Given the description of an element on the screen output the (x, y) to click on. 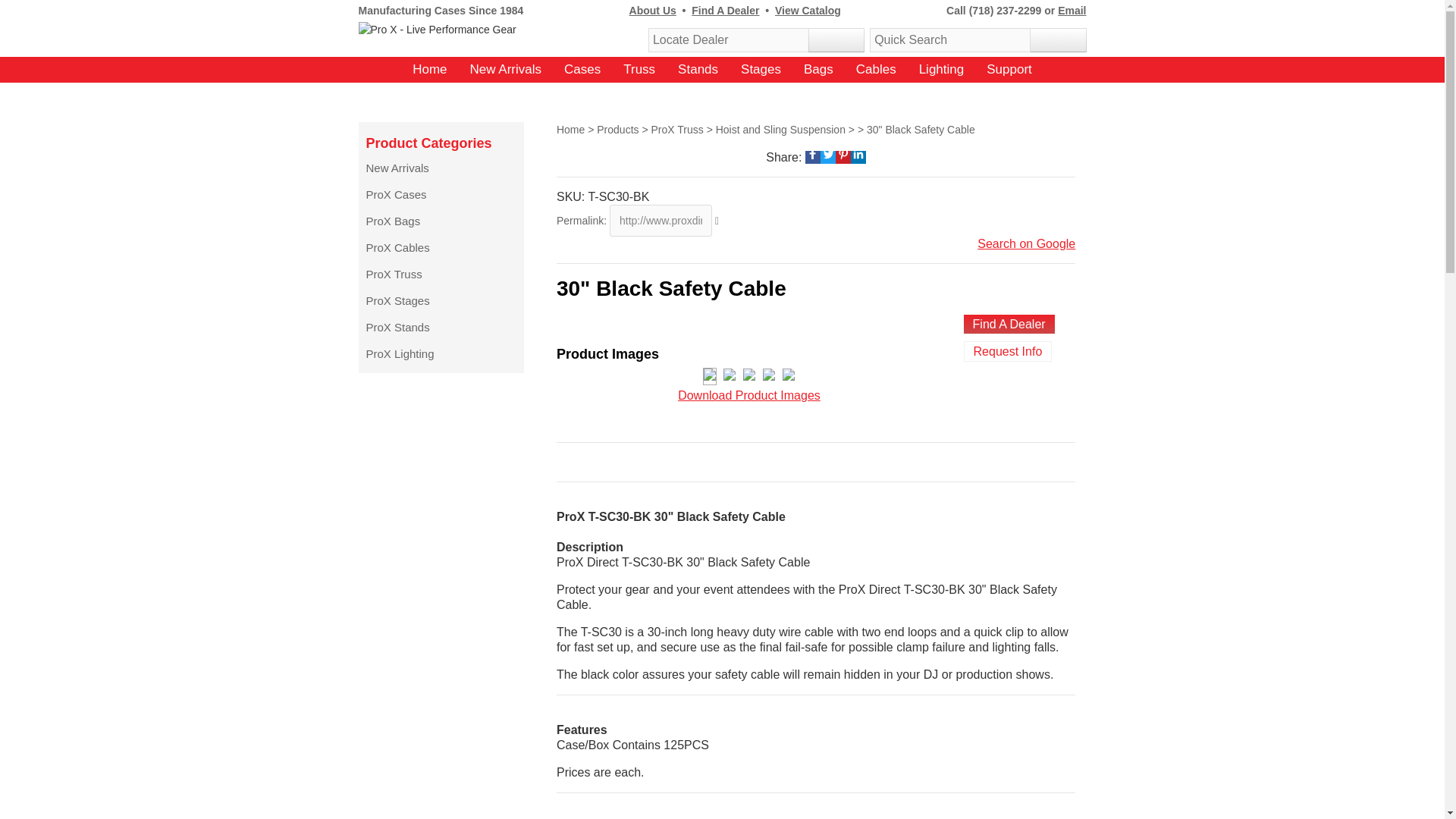
Find A Dealer (724, 10)
Home (429, 69)
Facebook (813, 153)
LinkedIn (858, 153)
Cases (581, 69)
Pinterest (842, 153)
Twitter (828, 153)
New Arrivals (505, 69)
Email (1072, 10)
View Catalog (807, 10)
